Given the description of an element on the screen output the (x, y) to click on. 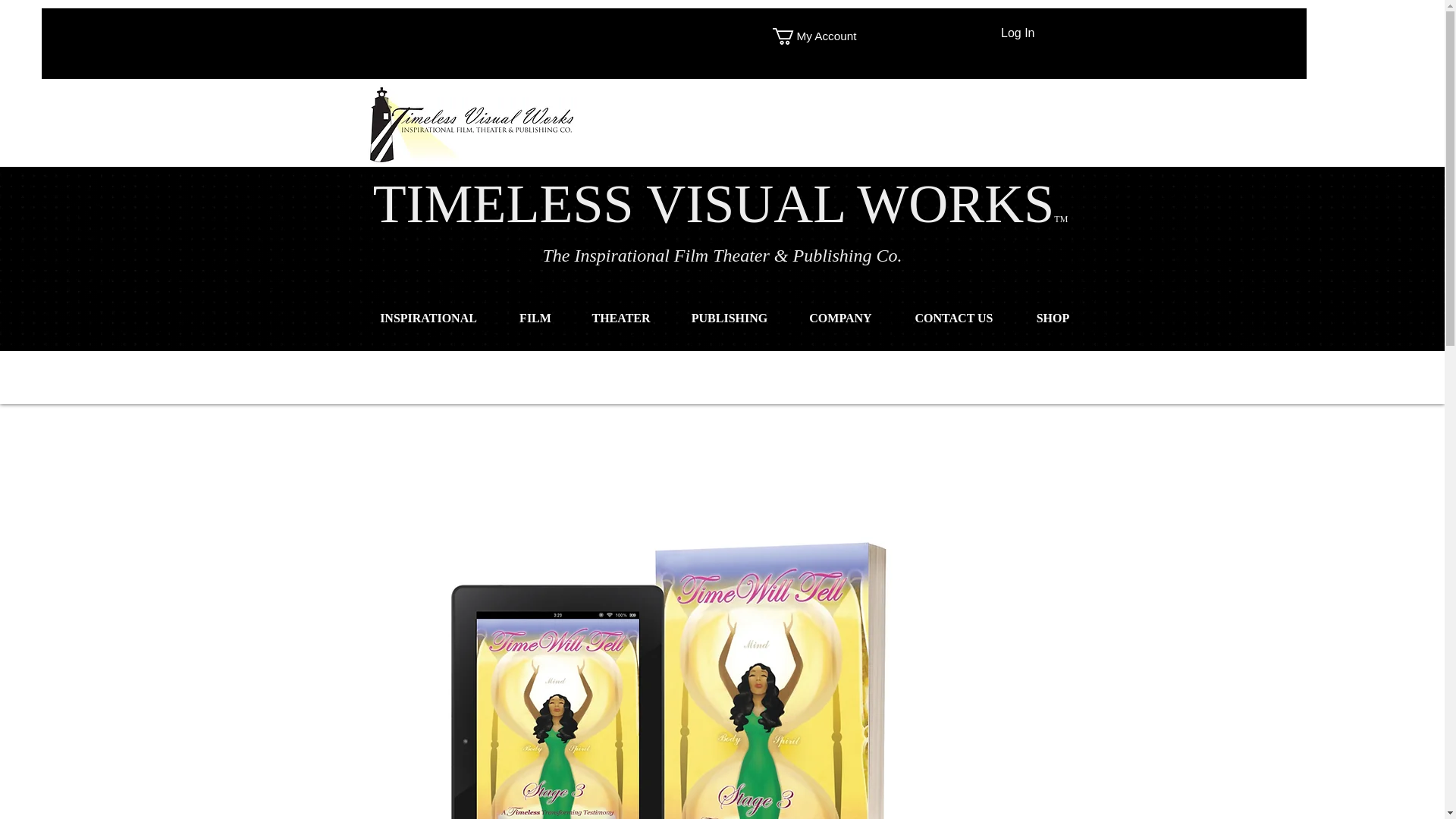
THEATER (621, 318)
PUBLISHING (728, 318)
FILM (534, 318)
My Account (825, 36)
CONTACT US (953, 318)
My Account (825, 36)
COMPANY (841, 318)
Log In (1017, 33)
INSPIRATIONAL (428, 318)
